Given the description of an element on the screen output the (x, y) to click on. 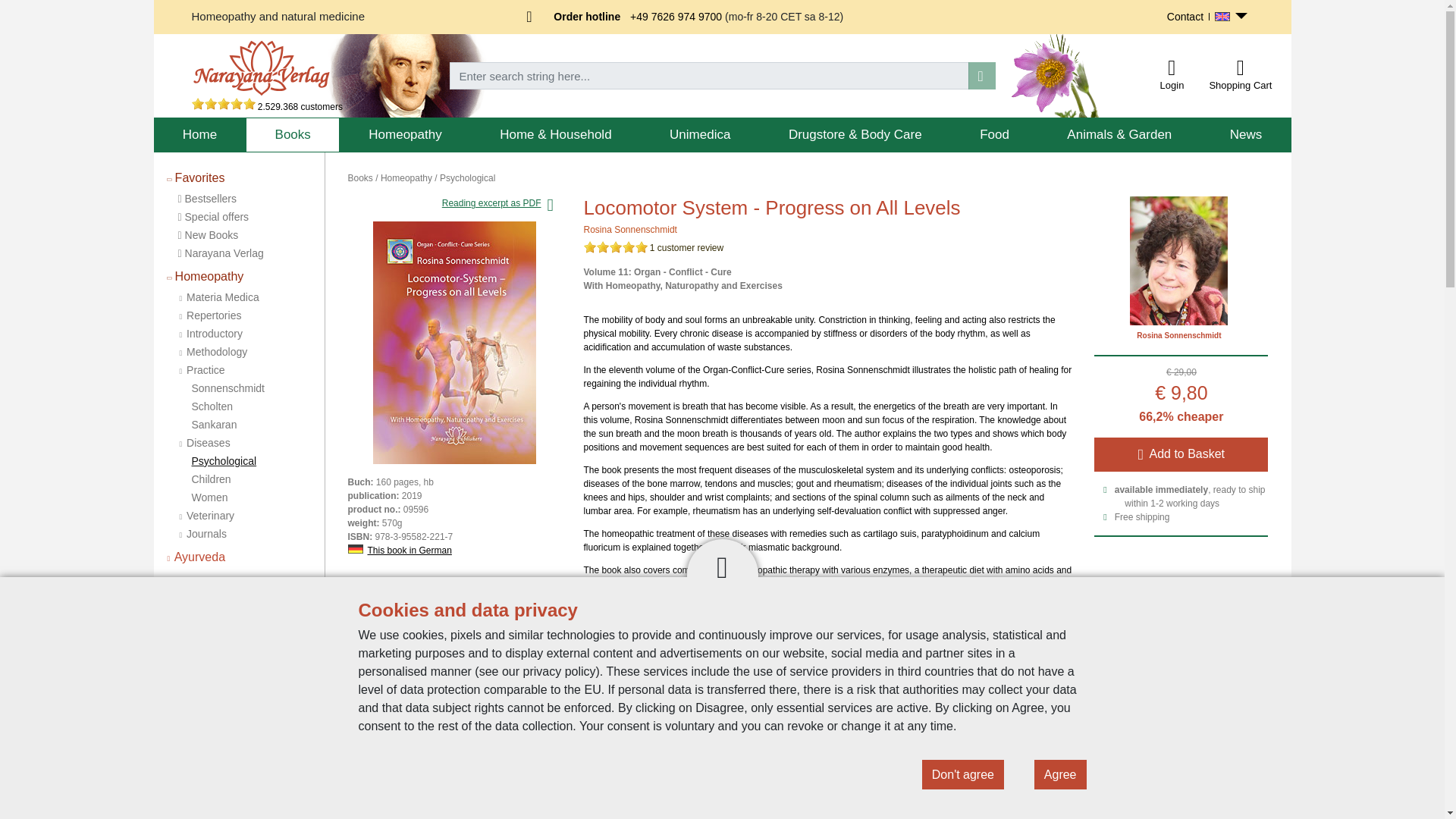
Contact (1184, 17)
Rosina Sonnenschmidt (630, 229)
Books (292, 134)
5 out of 5 Stars (615, 246)
Home (199, 134)
2.529.368 customers (266, 106)
Shopping Cart (1240, 67)
